Given the description of an element on the screen output the (x, y) to click on. 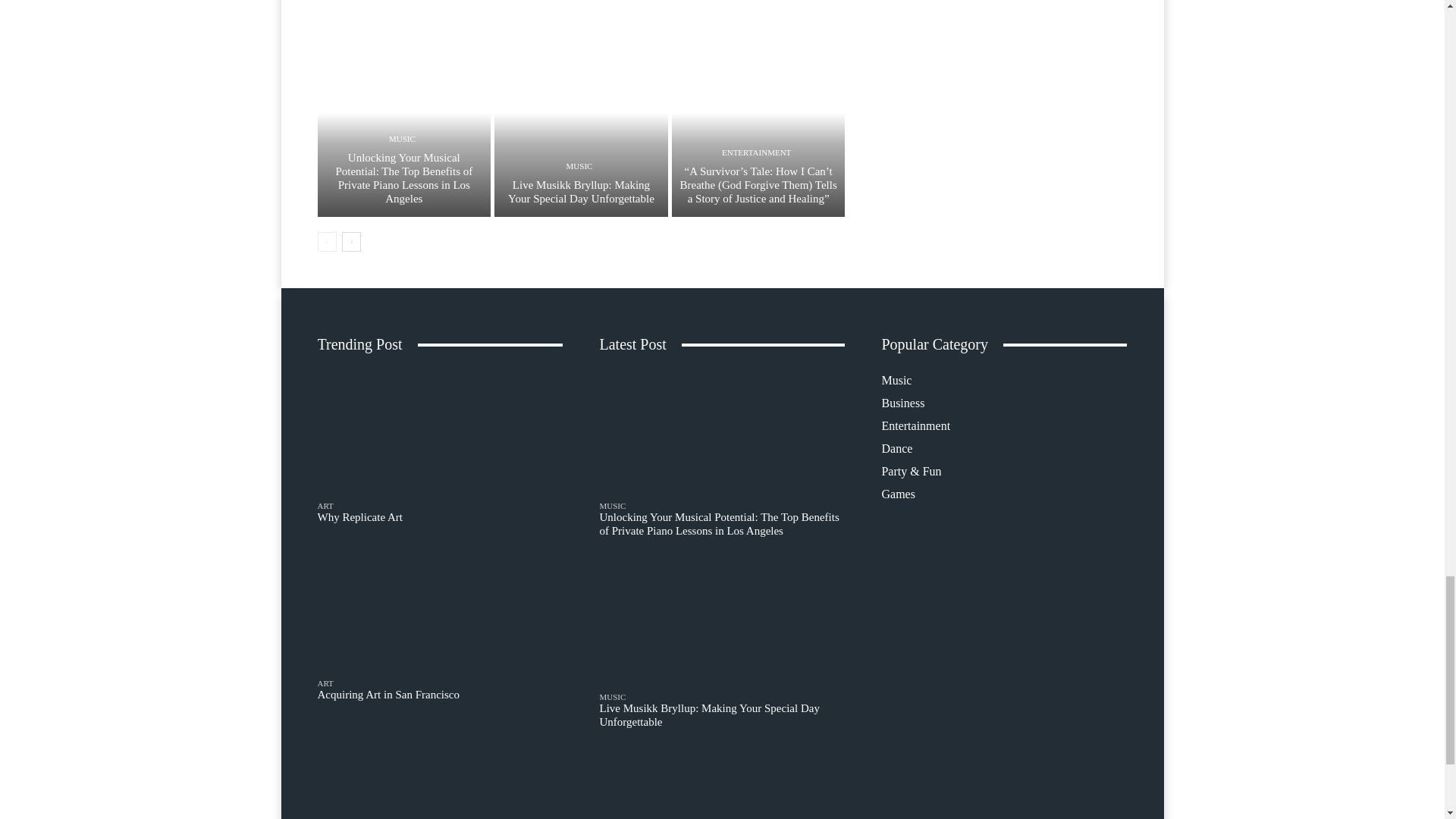
Live Musikk Bryllup: Making Your Special Day Unforgettable (580, 191)
